Given the description of an element on the screen output the (x, y) to click on. 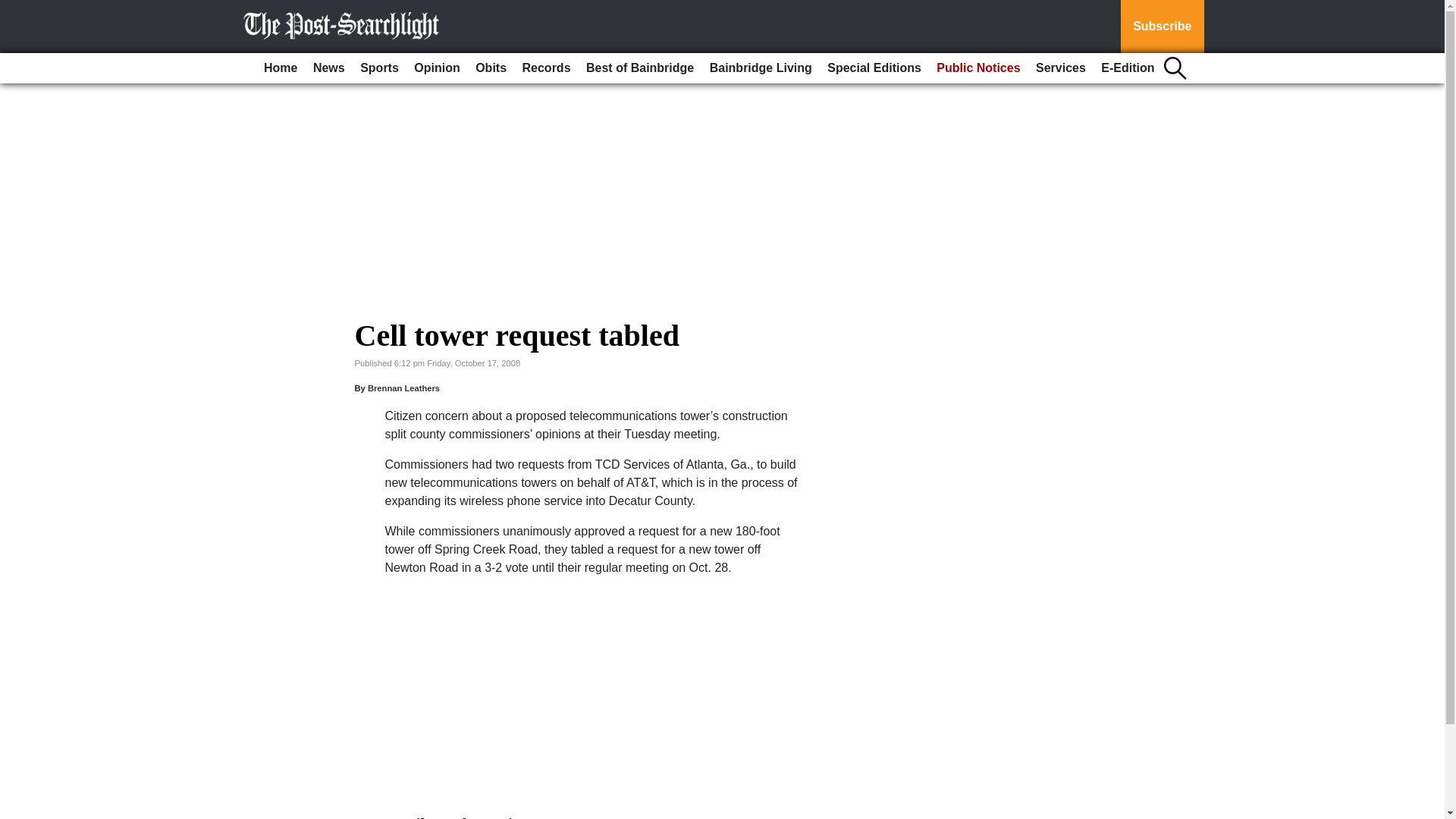
Best of Bainbridge (639, 68)
Services (1060, 68)
Brennan Leathers (403, 388)
Bainbridge Living (760, 68)
Subscribe (1162, 26)
Home (279, 68)
Special Editions (874, 68)
Go (13, 9)
Obits (490, 68)
E-Edition (1127, 68)
Public Notices (978, 68)
News (328, 68)
Opinion (436, 68)
Records (546, 68)
Sports (378, 68)
